Given the description of an element on the screen output the (x, y) to click on. 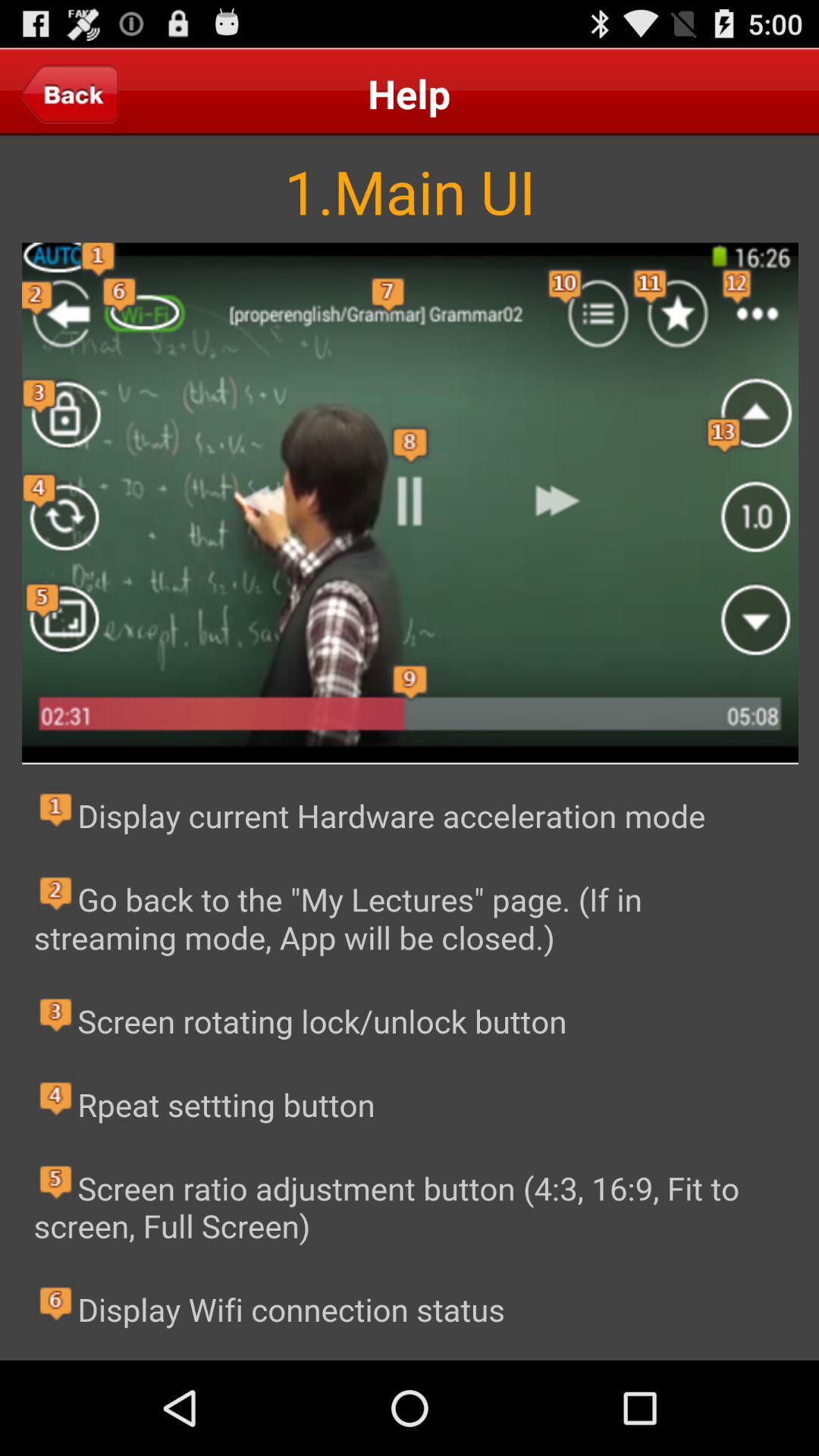
back (69, 93)
